Given the description of an element on the screen output the (x, y) to click on. 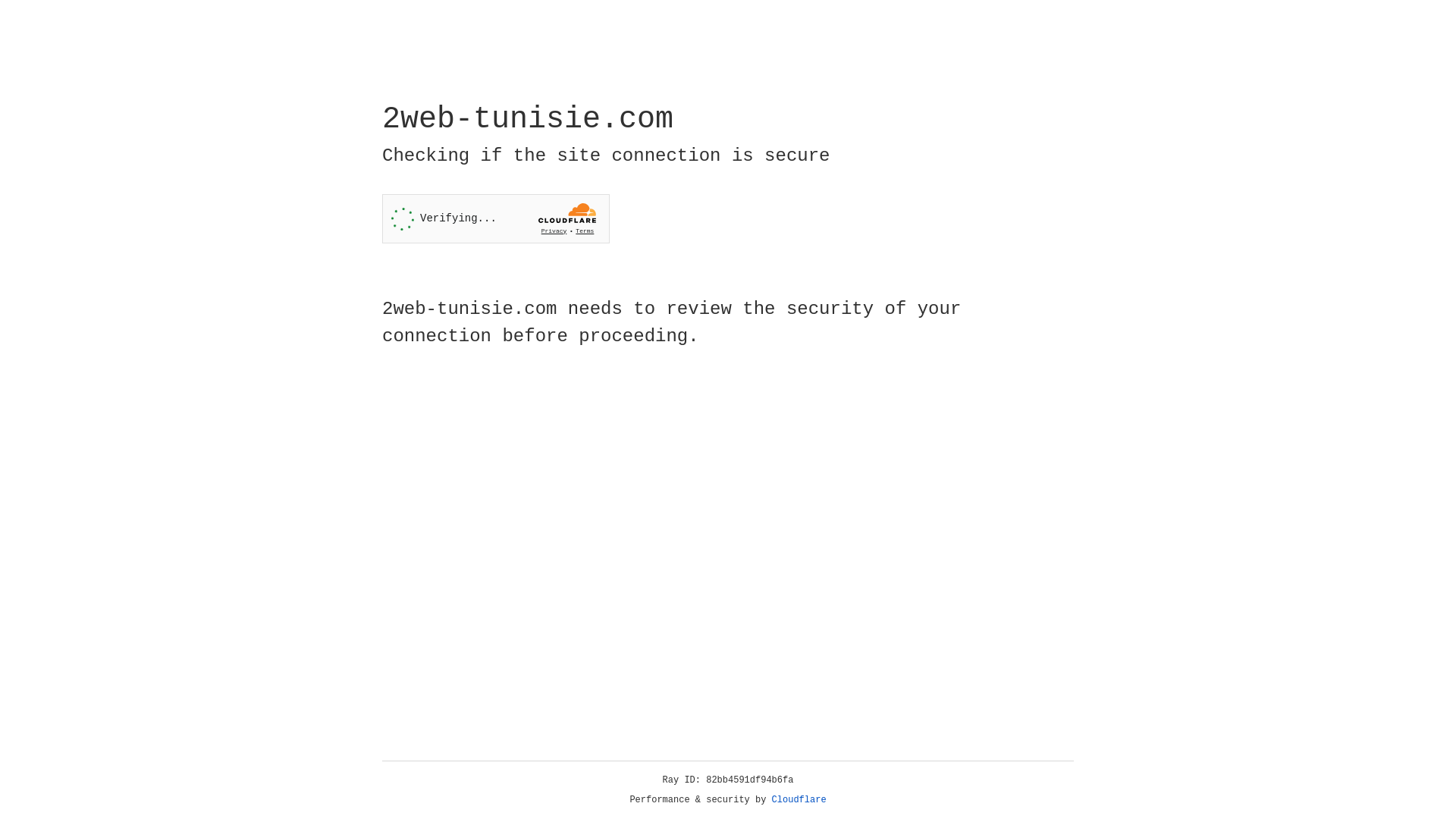
Widget containing a Cloudflare security challenge Element type: hover (495, 218)
Cloudflare Element type: text (798, 799)
